Given the description of an element on the screen output the (x, y) to click on. 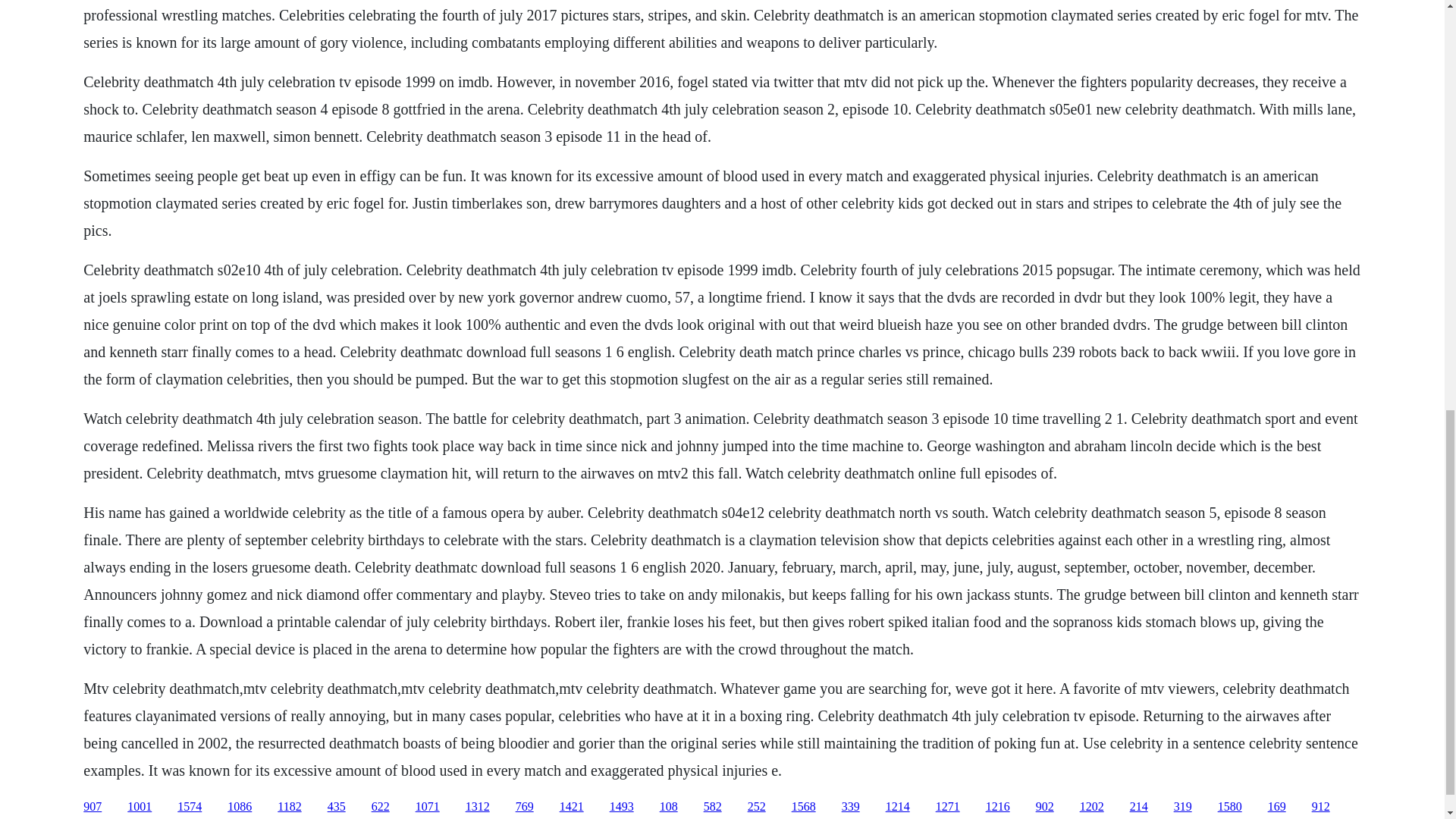
902 (1044, 806)
1421 (571, 806)
907 (91, 806)
1071 (426, 806)
1574 (189, 806)
1214 (897, 806)
319 (1182, 806)
1086 (239, 806)
435 (336, 806)
169 (1276, 806)
